Given the description of an element on the screen output the (x, y) to click on. 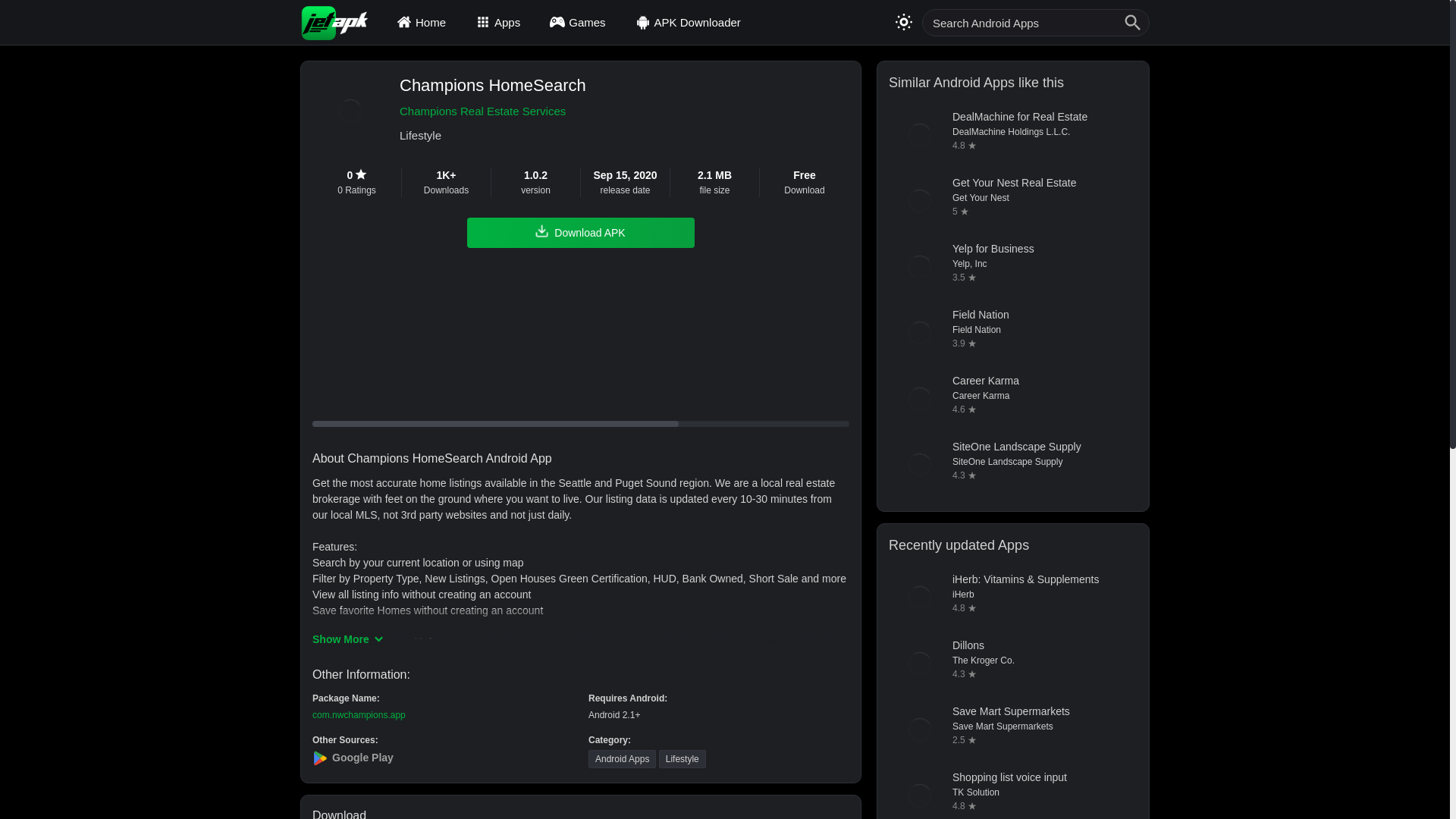
Yelp for Business 24.20.0-28242020 Android APK (1012, 266)
Google Play (443, 757)
1.0.2 (535, 175)
Download APK (580, 232)
Lifestyle (682, 759)
DealMachine for Real Estate 12.5.0 Android APK (1012, 135)
Android Apps (622, 759)
Apps (499, 22)
Field Nation 23.17.0 Android APK (1012, 332)
Champions Real Estate Services (492, 111)
